Given the description of an element on the screen output the (x, y) to click on. 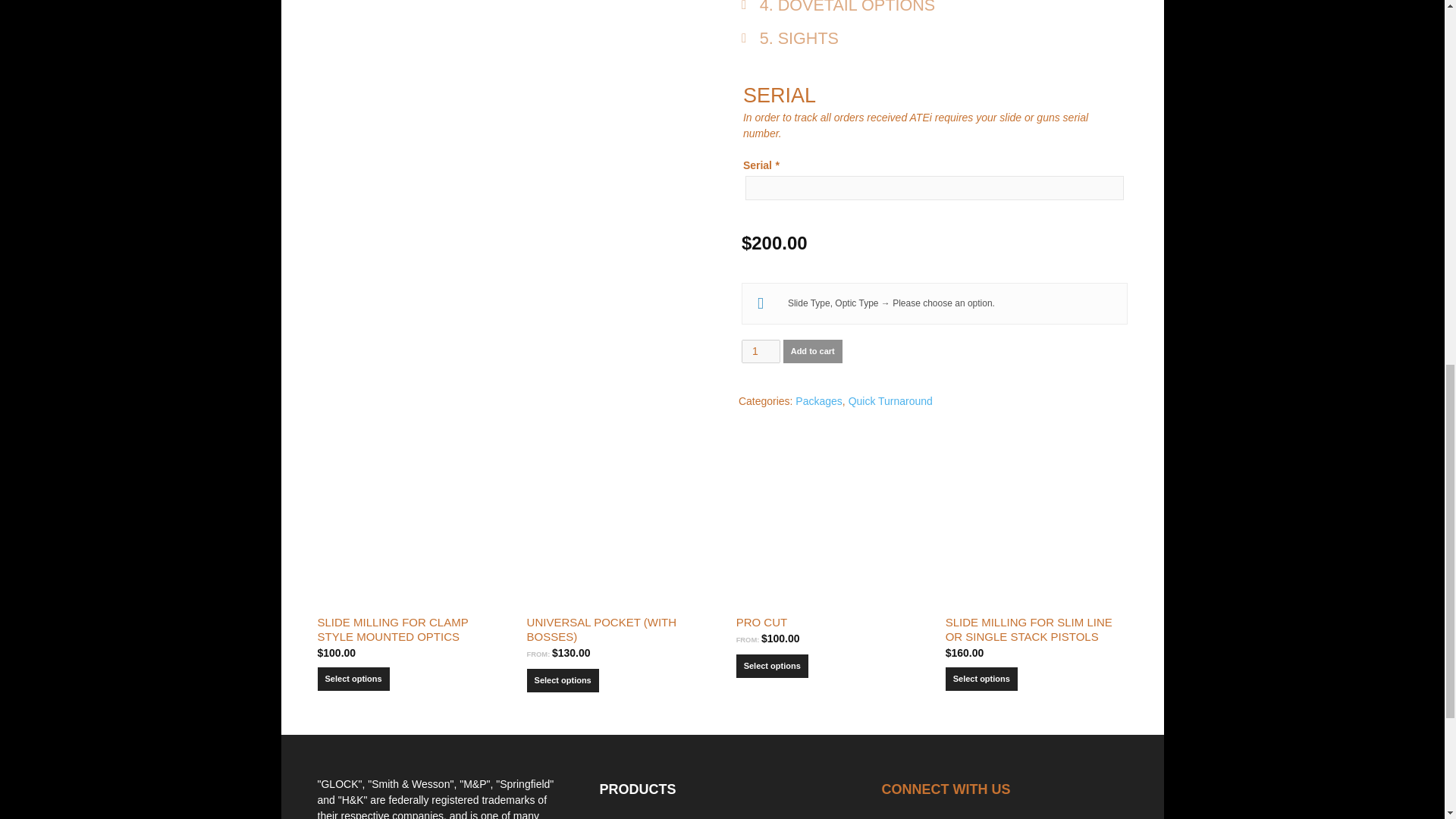
4 DOVETAIL OPTIONS (933, 13)
5 SIGHTS (933, 43)
1 (760, 351)
